Given the description of an element on the screen output the (x, y) to click on. 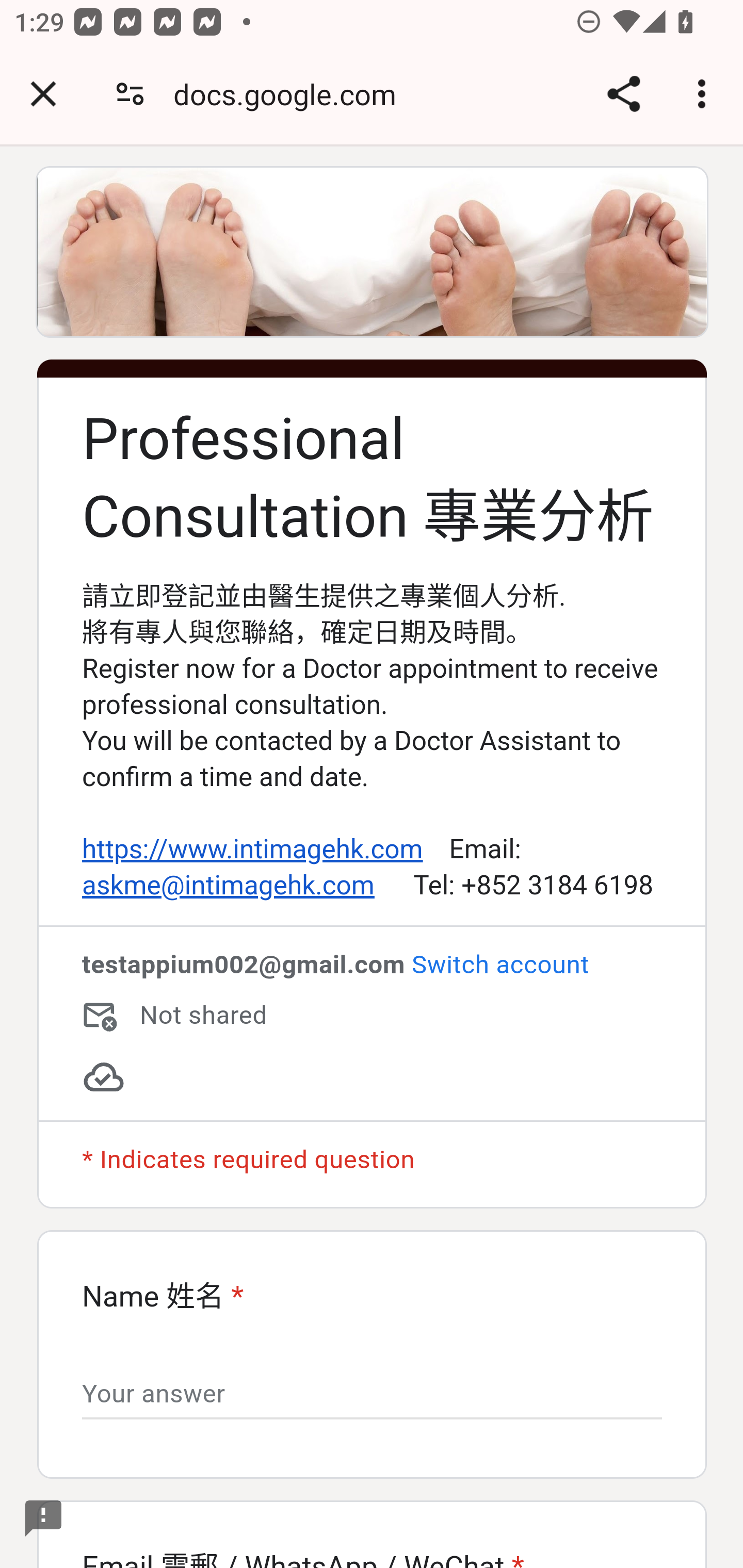
Close tab (43, 93)
Share (623, 93)
Customize and control Google Chrome (705, 93)
Connection is secure (129, 93)
docs.google.com (291, 93)
https://www.intimagehk.com (252, 849)
askme@intimagehk.com (227, 885)
Switch account (499, 965)
Report a problem to Google (44, 1518)
